Given the description of an element on the screen output the (x, y) to click on. 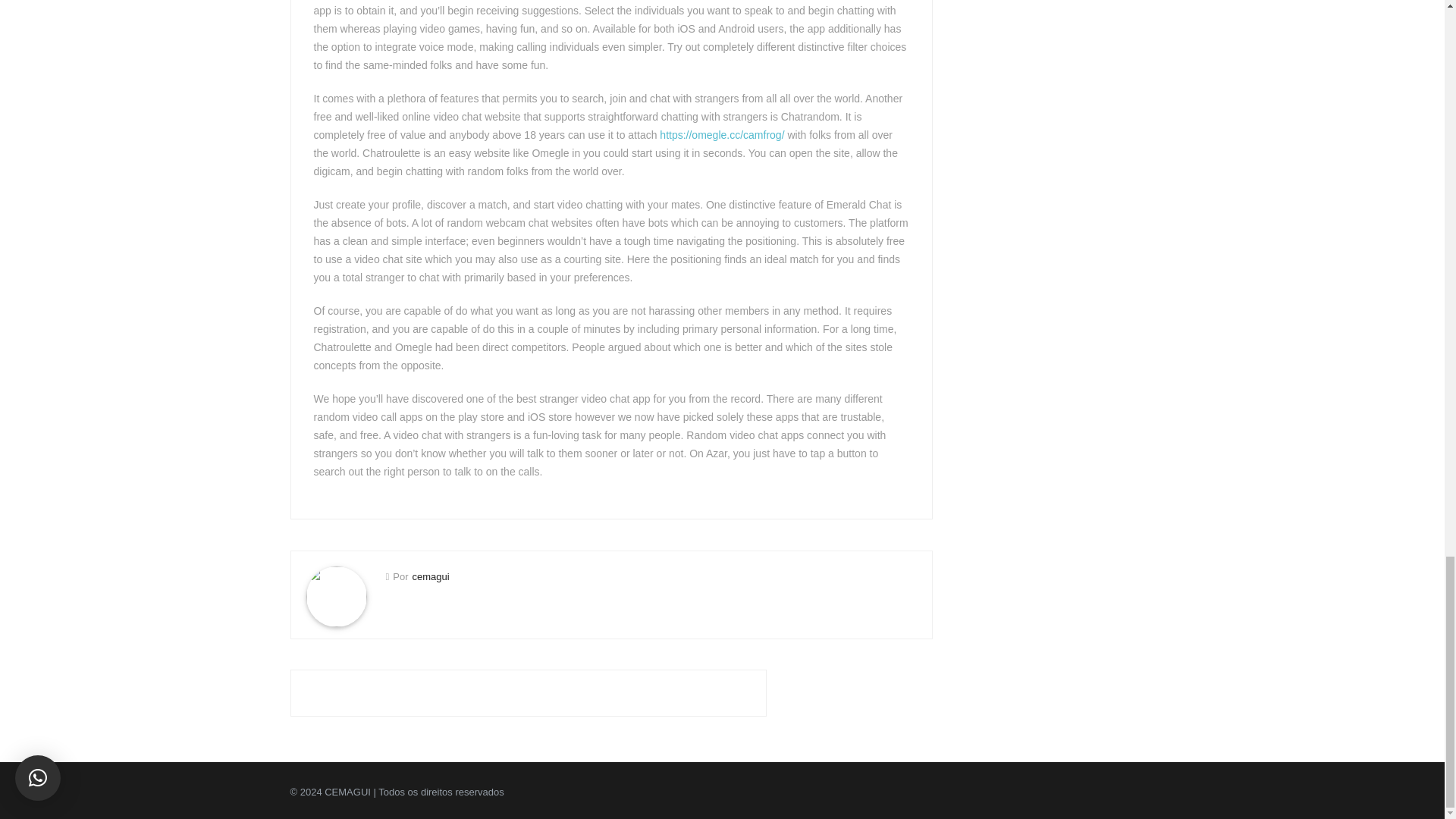
cemagui (430, 576)
